Given the description of an element on the screen output the (x, y) to click on. 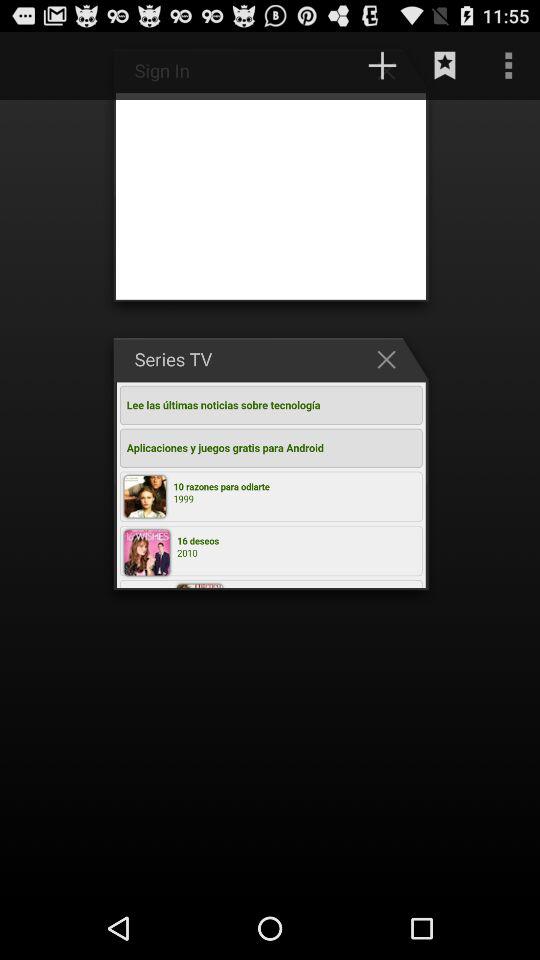
choose item at the top left corner (41, 65)
